Given the description of an element on the screen output the (x, y) to click on. 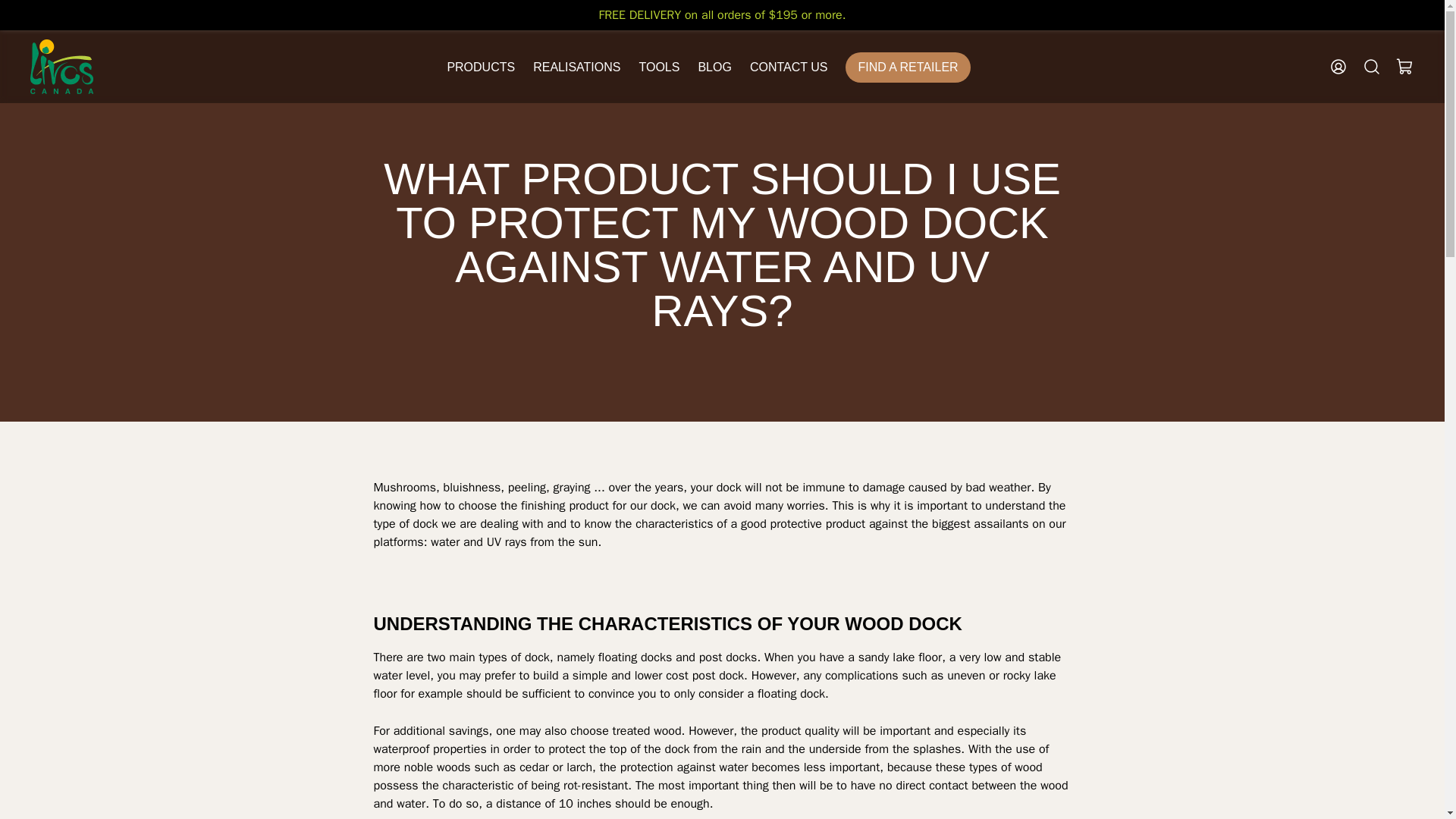
FAQ (649, 136)
Exterior oil (666, 245)
FIND A RETAILER (907, 66)
Interior oil (665, 218)
Waxes (463, 163)
Interior wood oils (491, 109)
REALISATIONS (576, 69)
BLOG (713, 69)
How to exterior (678, 191)
CONTACT US (789, 69)
Exterior wood oils (493, 136)
Accessories (478, 218)
PRODUCTS (480, 66)
Cleaners (469, 191)
